Given the description of an element on the screen output the (x, y) to click on. 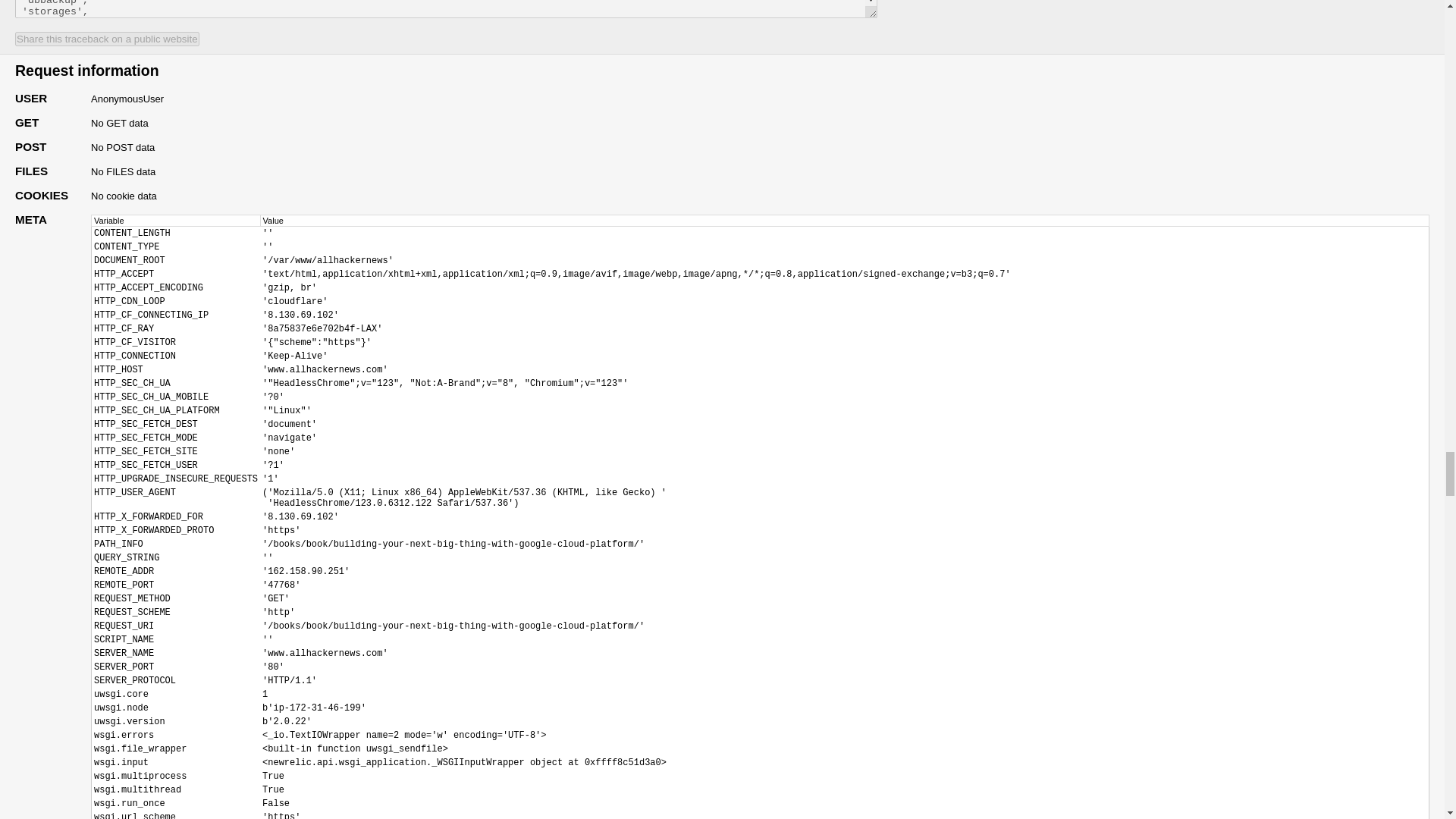
Share this traceback on a public website (106, 38)
Share this traceback on a public website (106, 38)
